Given the description of an element on the screen output the (x, y) to click on. 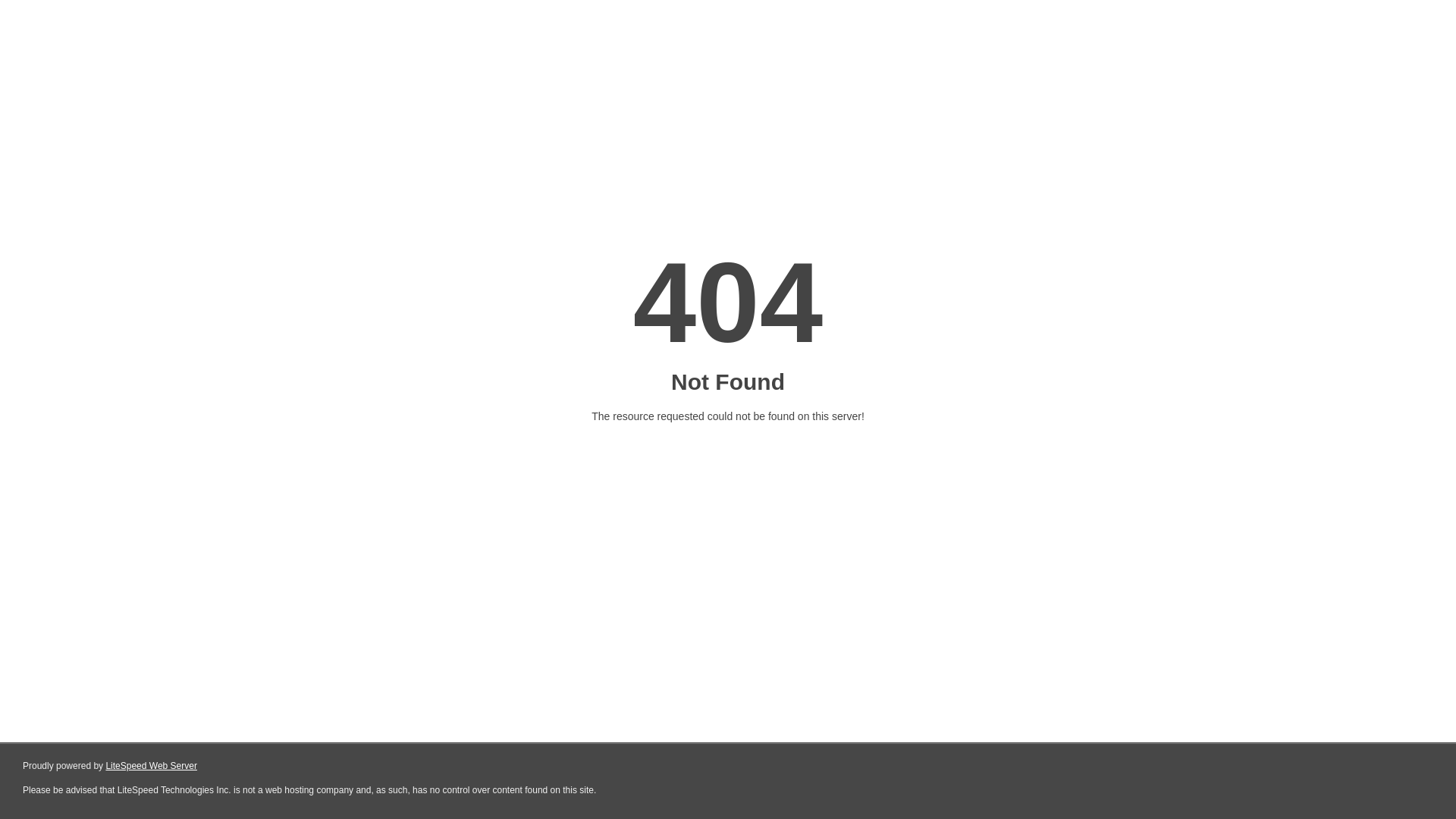
LiteSpeed Web Server Element type: text (151, 765)
